Given the description of an element on the screen output the (x, y) to click on. 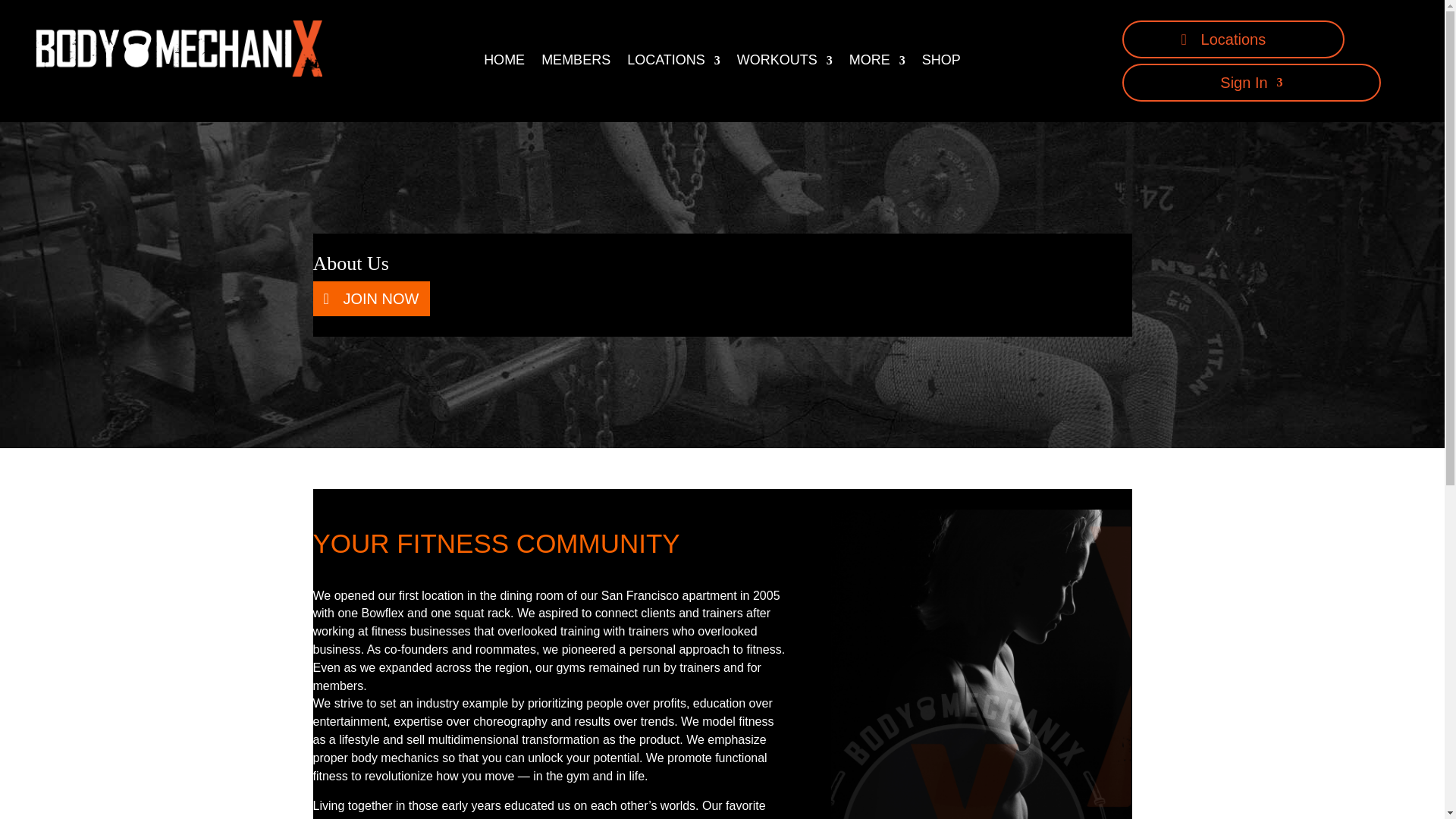
Locations (1233, 39)
HOME (503, 63)
Sign In (1251, 85)
MEMBERS (575, 63)
WORKOUTS (784, 63)
SHOP (940, 63)
Body-Mechanix (179, 48)
MORE (876, 63)
LOCATIONS (673, 63)
1 (981, 664)
